Given the description of an element on the screen output the (x, y) to click on. 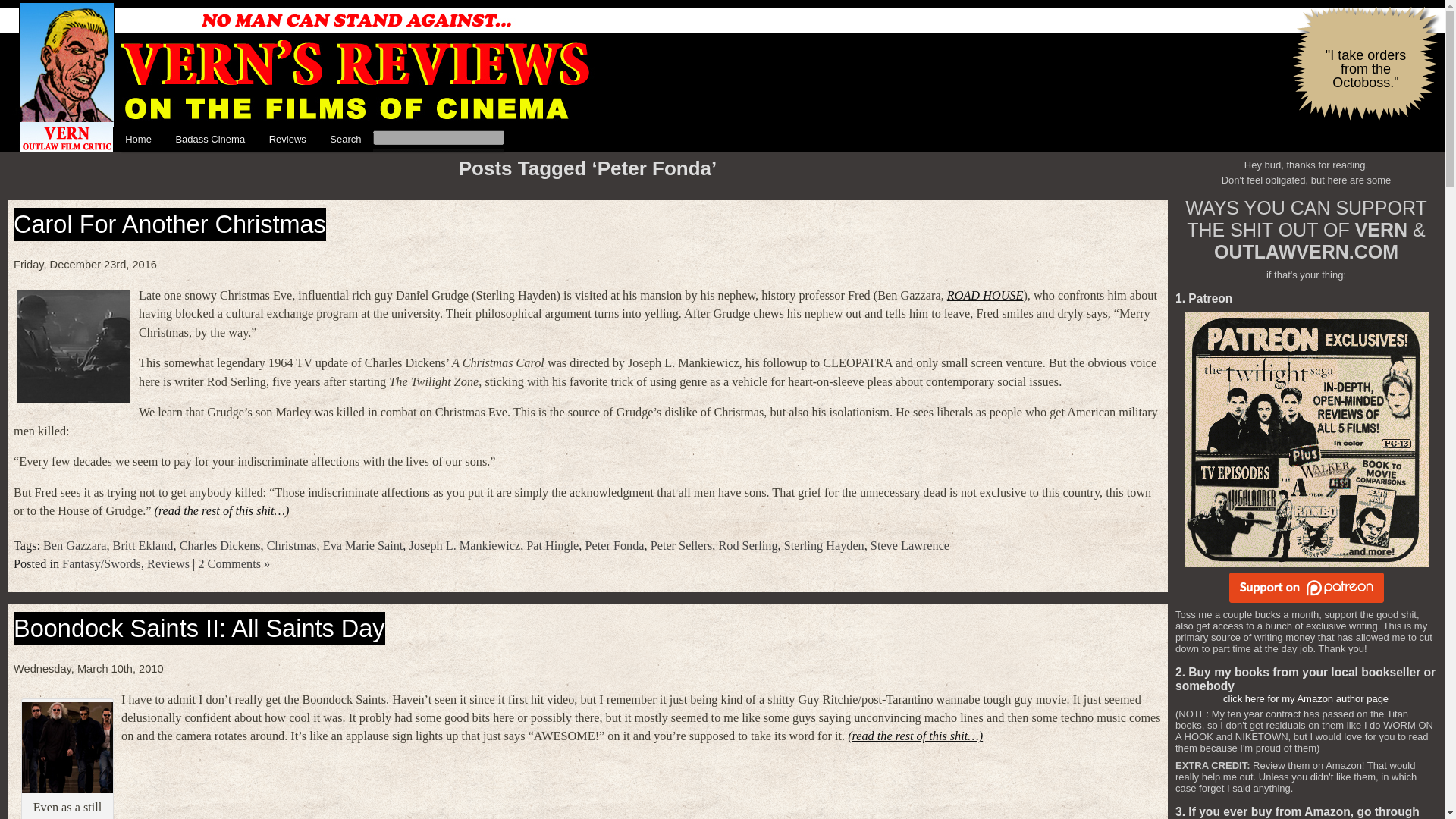
Permanent Link to Boondock Saints II: All Saints Day (199, 628)
Permanent Link to Carol For Another Christmas (169, 224)
Home (138, 139)
